Given the description of an element on the screen output the (x, y) to click on. 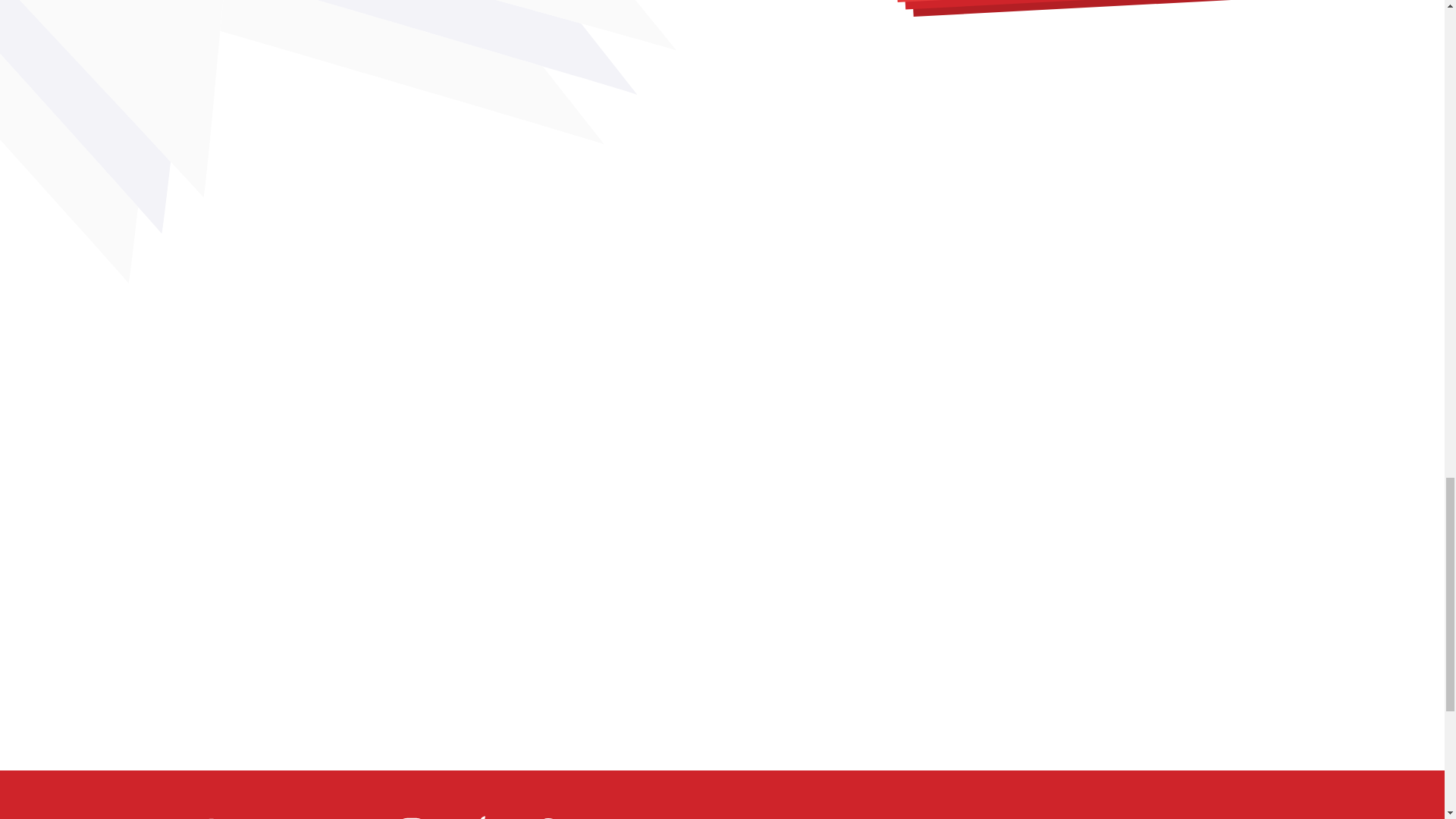
Youtube (342, 813)
Google (547, 813)
TikTok (615, 813)
Apple (479, 813)
Twitter (274, 813)
Instagram (410, 813)
Facebook (205, 813)
